Given the description of an element on the screen output the (x, y) to click on. 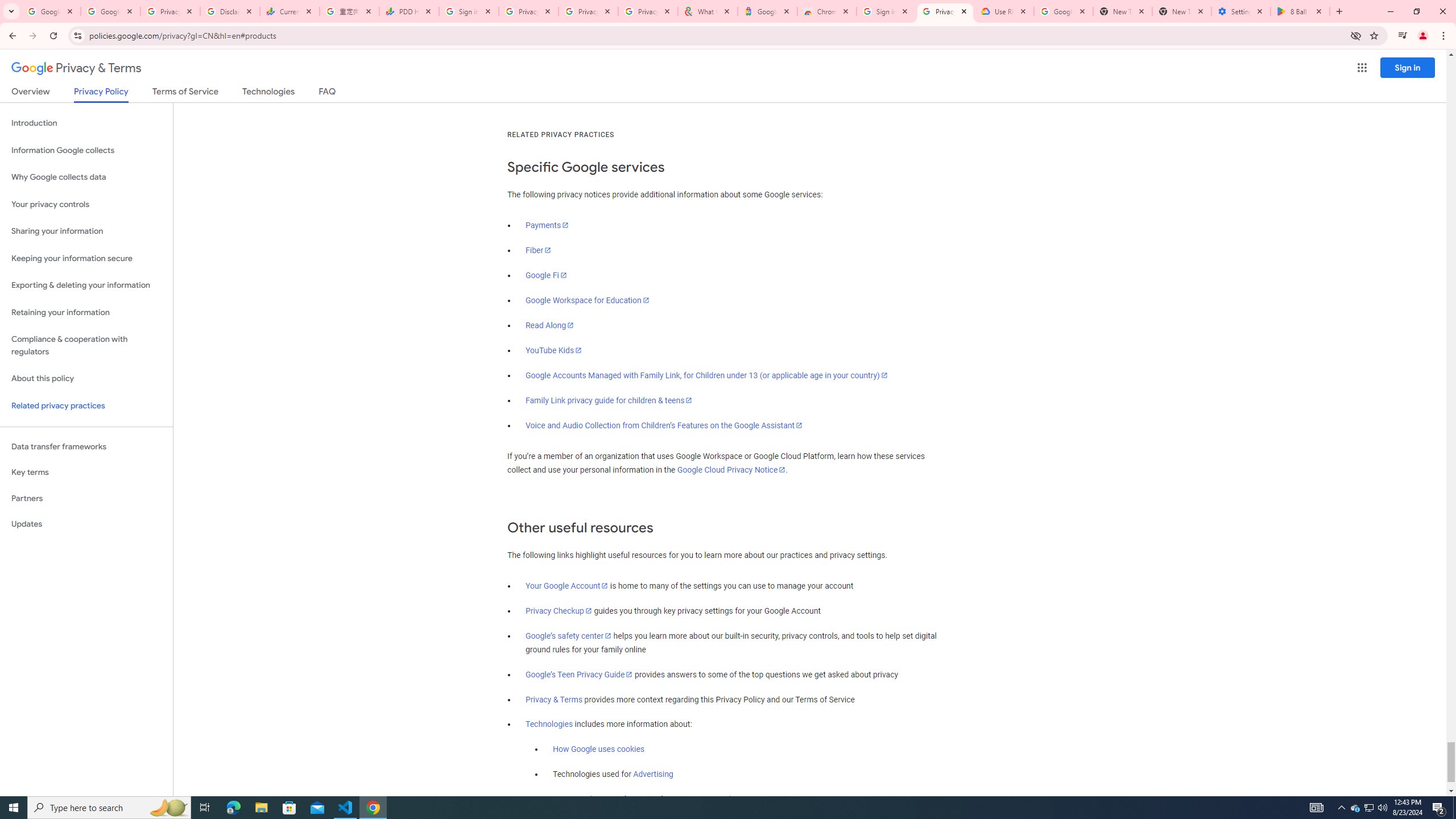
Your Google Account (566, 585)
How Google uses cookies (599, 749)
Sign in - Google Accounts (468, 11)
PDD Holdings Inc - ADR (PDD) Price & News - Google Finance (409, 11)
Chrome Web Store - Color themes by Chrome (826, 11)
Google Workspace for Education (587, 299)
Related privacy practices (86, 405)
Settings - System (1241, 11)
